Given the description of an element on the screen output the (x, y) to click on. 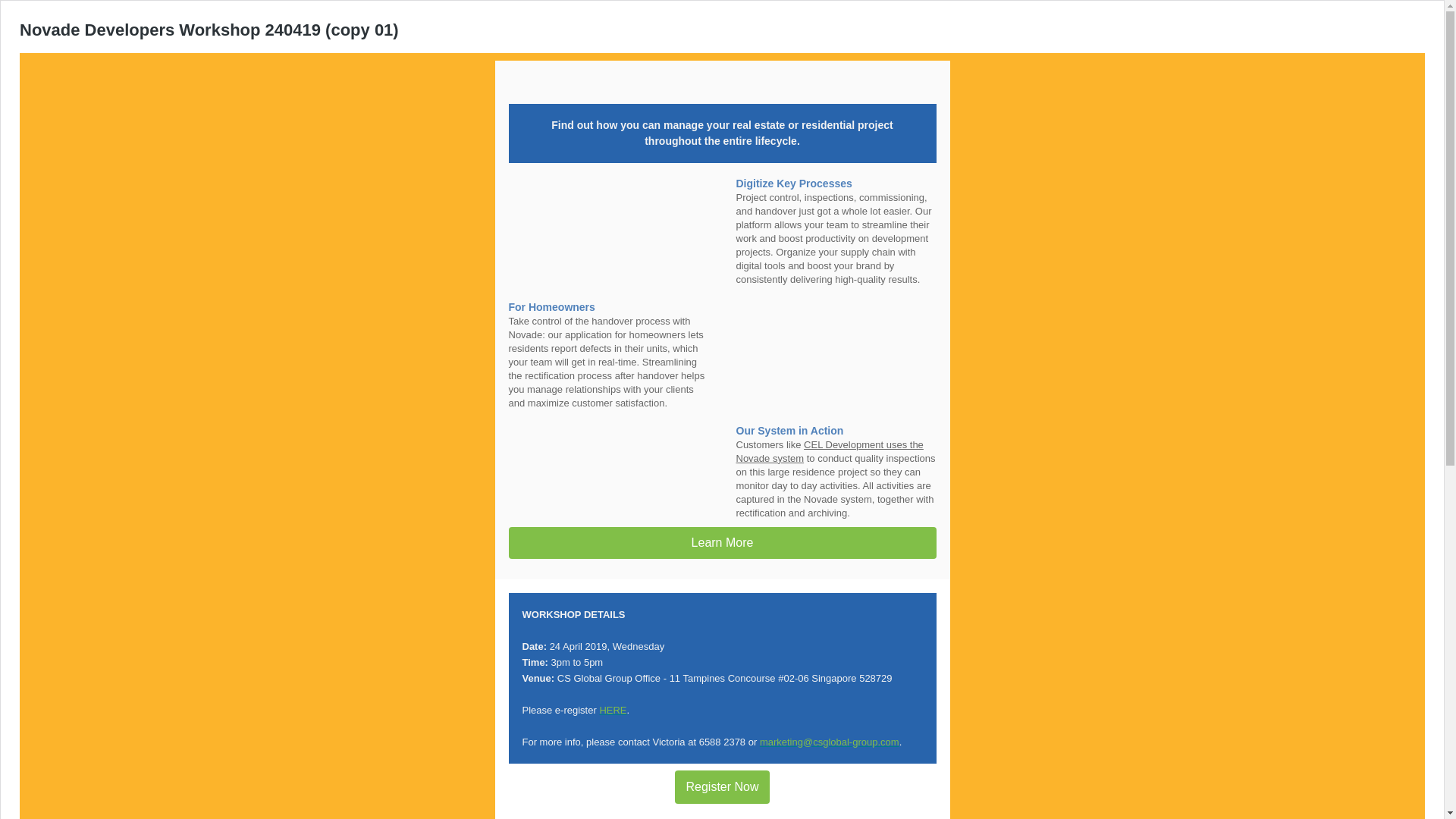
CEL Development uses the Novade system (829, 451)
Register Now (721, 787)
Register Now (721, 787)
Learn More (722, 542)
HERE (612, 709)
Learn More (722, 542)
